Given the description of an element on the screen output the (x, y) to click on. 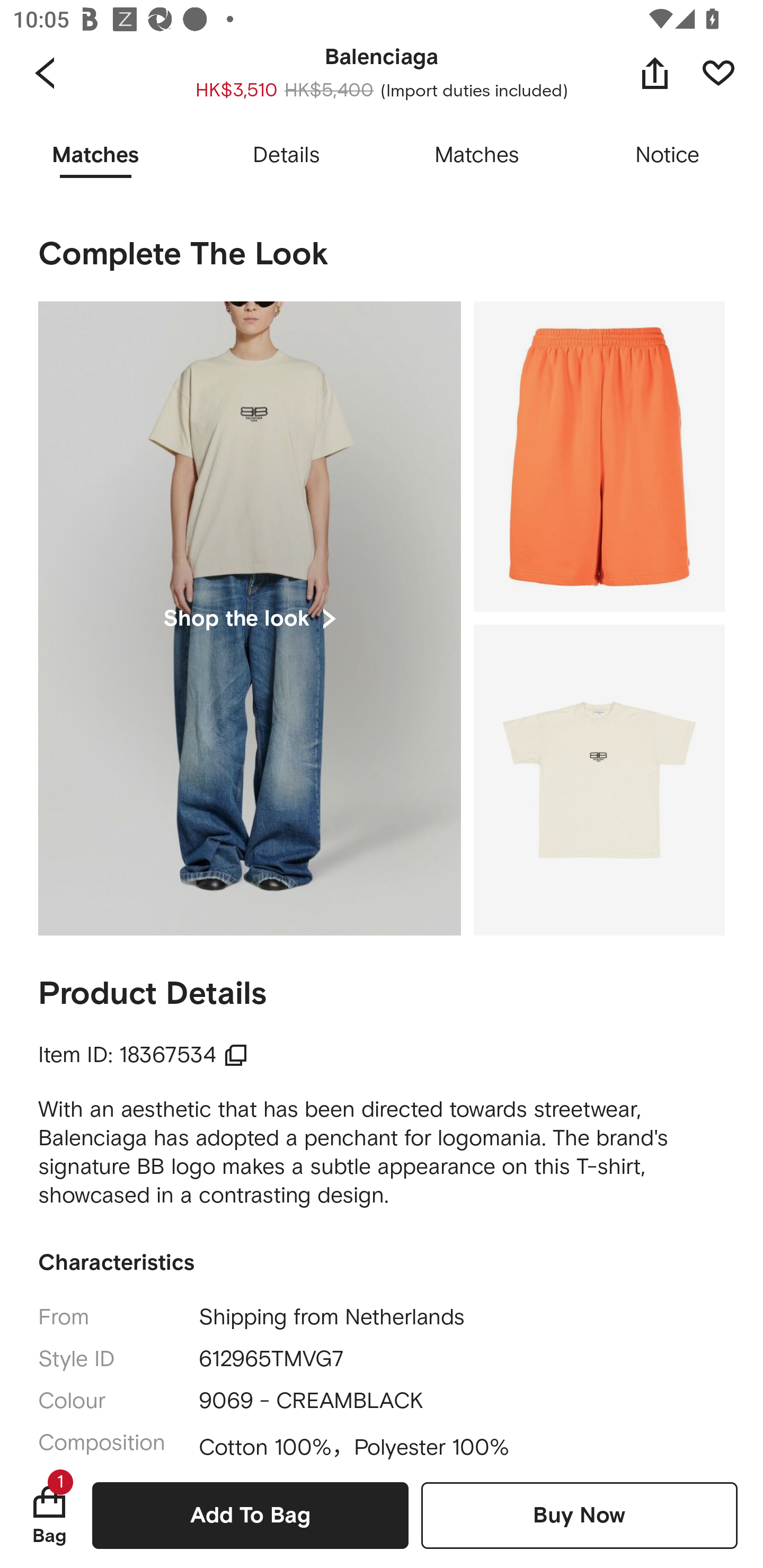
Select 1 size(s) available (349, 75)
Details (285, 155)
Matches (476, 155)
Notice (667, 155)
Item ID: 18367534 (143, 1055)
Bag 1 (49, 1515)
Add To Bag (250, 1515)
Buy Now (579, 1515)
